Given the description of an element on the screen output the (x, y) to click on. 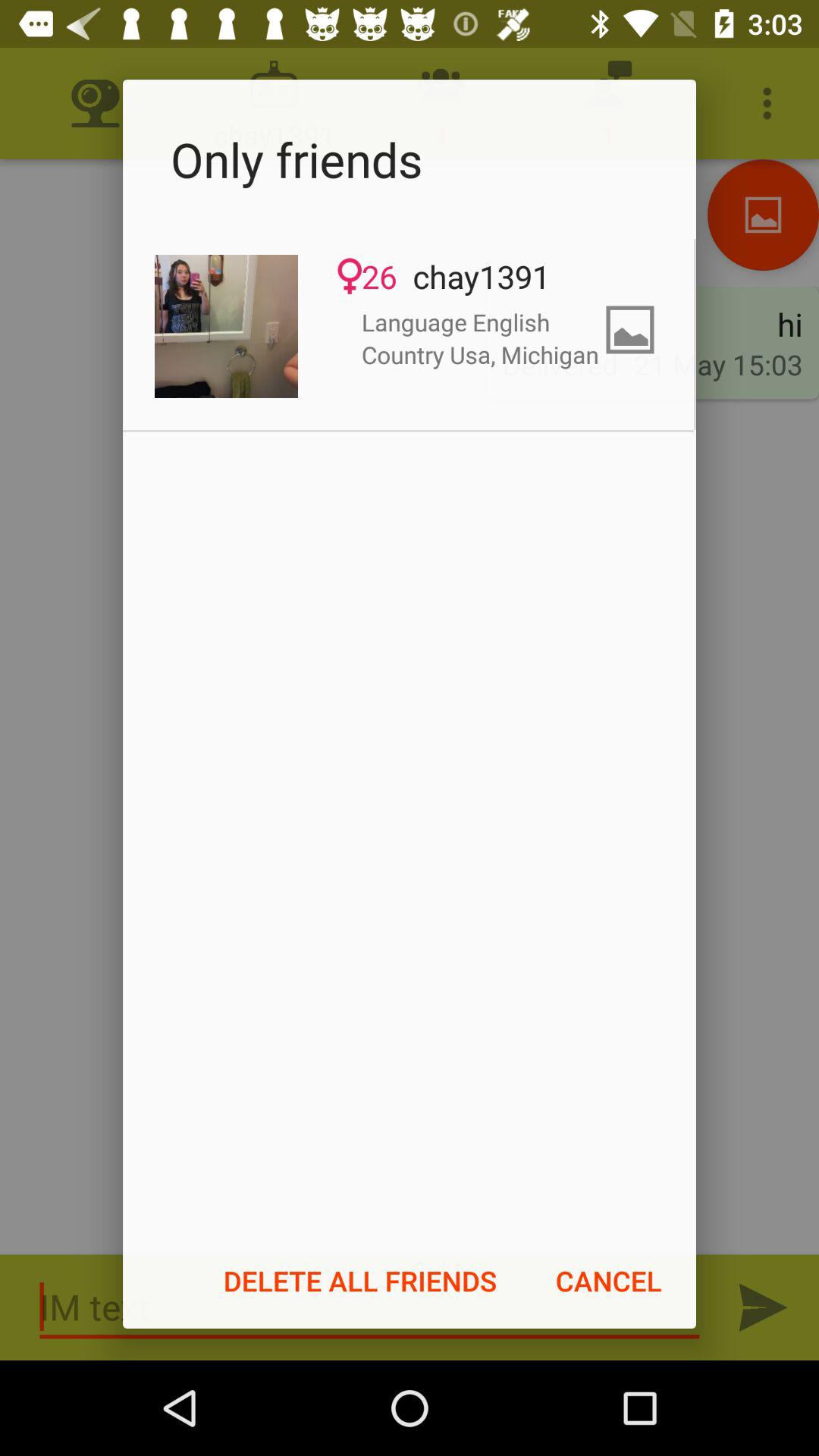
flip until the cancel (608, 1280)
